Given the description of an element on the screen output the (x, y) to click on. 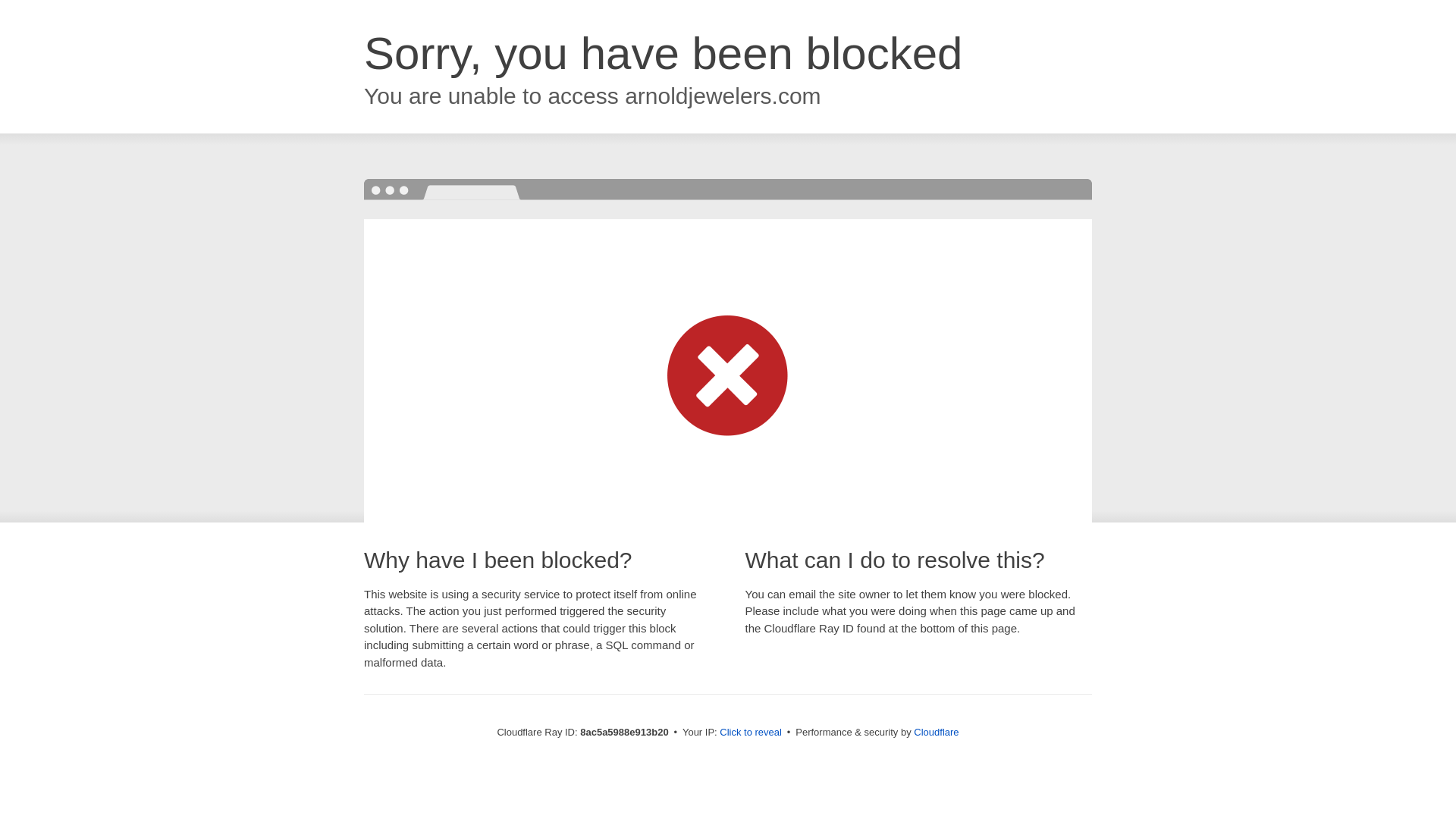
Click to reveal (750, 732)
Cloudflare (936, 731)
